Given the description of an element on the screen output the (x, y) to click on. 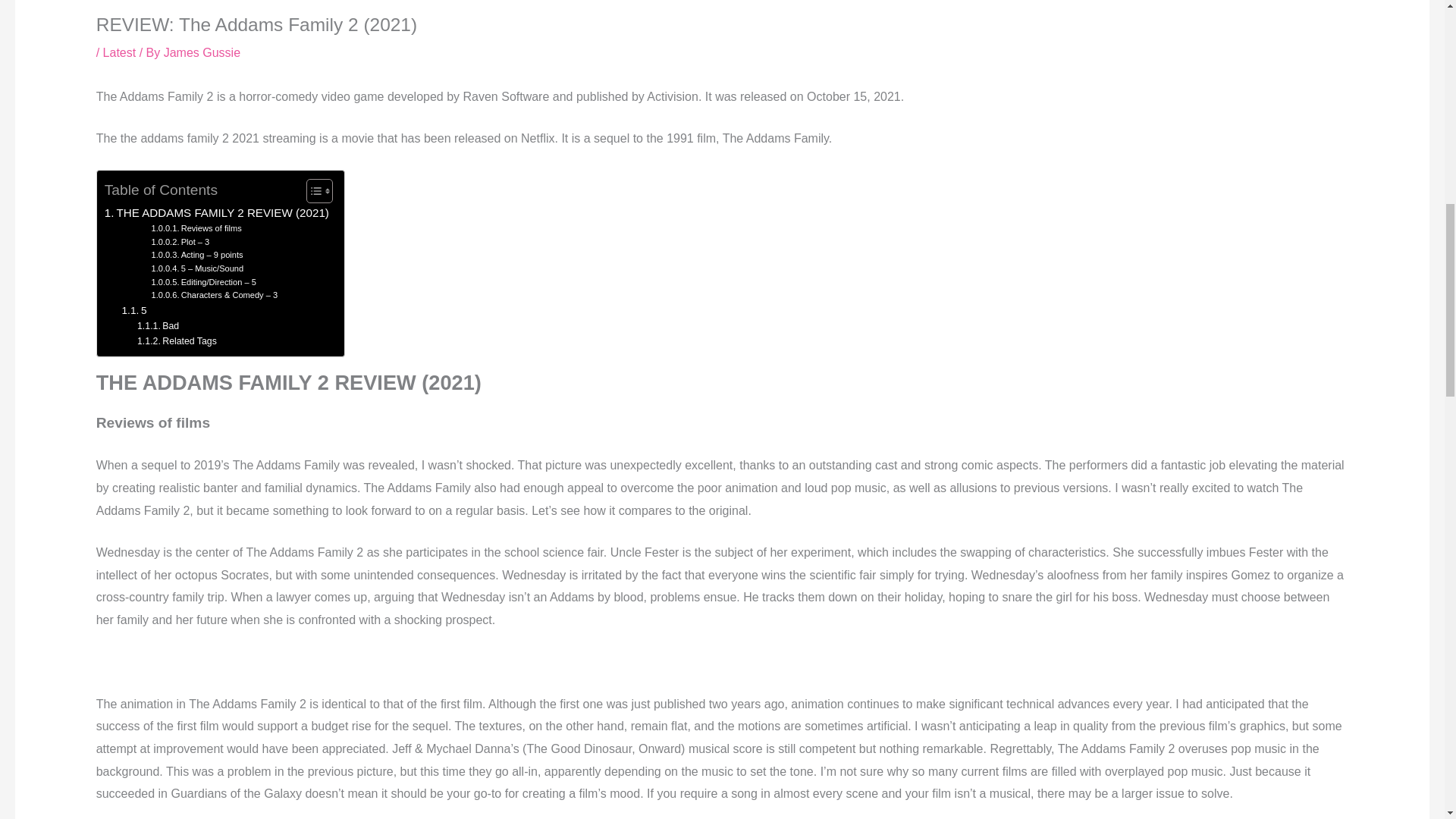
James Gussie (201, 51)
Related Tags (176, 341)
5 (134, 310)
Reviews of films (196, 228)
Bad (157, 326)
Related Tags (176, 341)
Bad (157, 326)
View all posts by James Gussie (201, 51)
Latest (119, 51)
5 (134, 310)
